Given the description of an element on the screen output the (x, y) to click on. 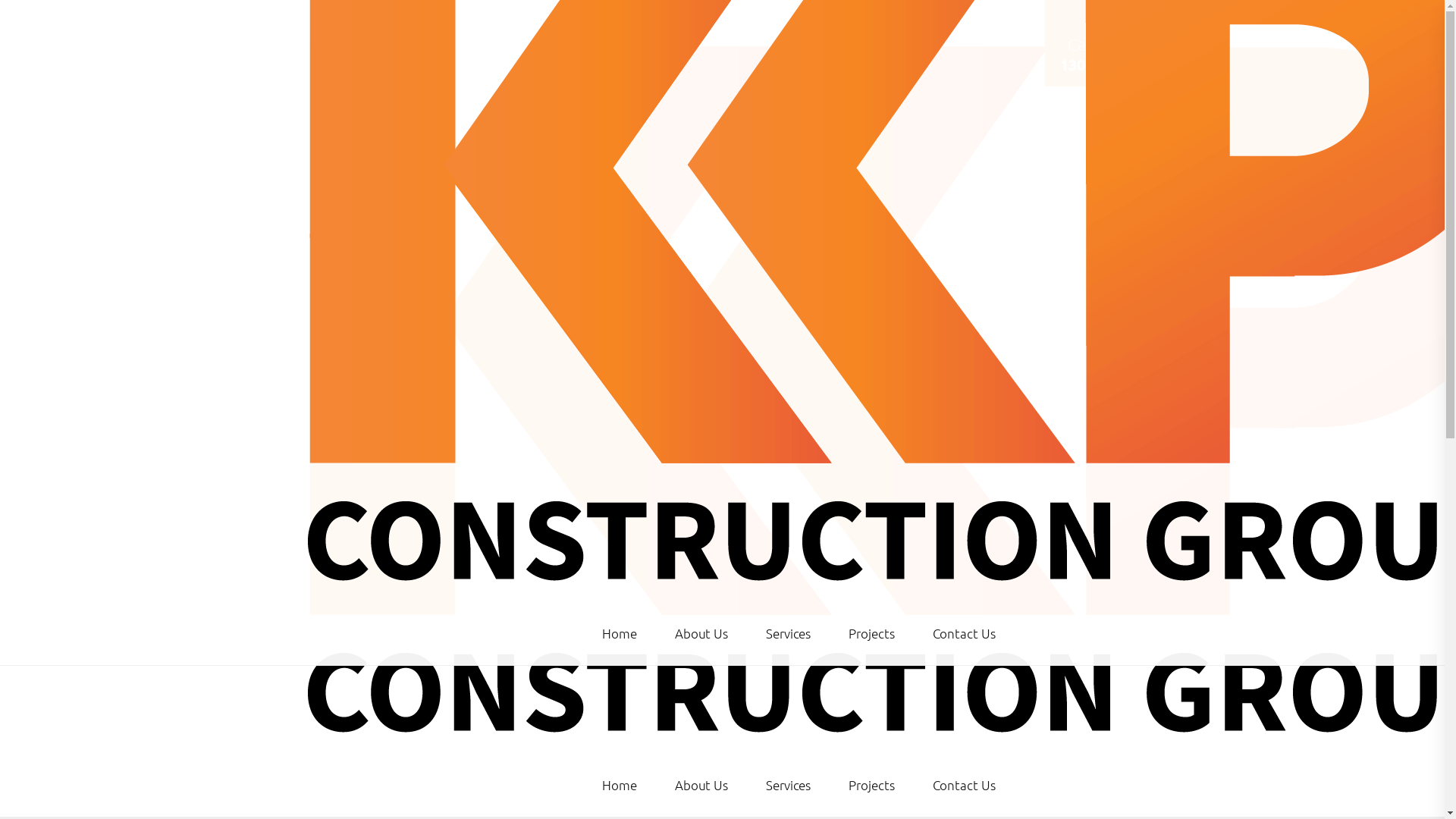
Contact Us Element type: text (963, 633)
Services Element type: text (787, 784)
1300 113 817 Element type: text (1105, 64)
Home Element type: text (628, 633)
Projects Element type: text (871, 784)
Contact Us Element type: text (963, 784)
Services Element type: text (787, 633)
About Us Element type: text (700, 633)
Projects Element type: text (871, 633)
About Us Element type: text (700, 784)
Home Element type: text (628, 784)
